Given the description of an element on the screen output the (x, y) to click on. 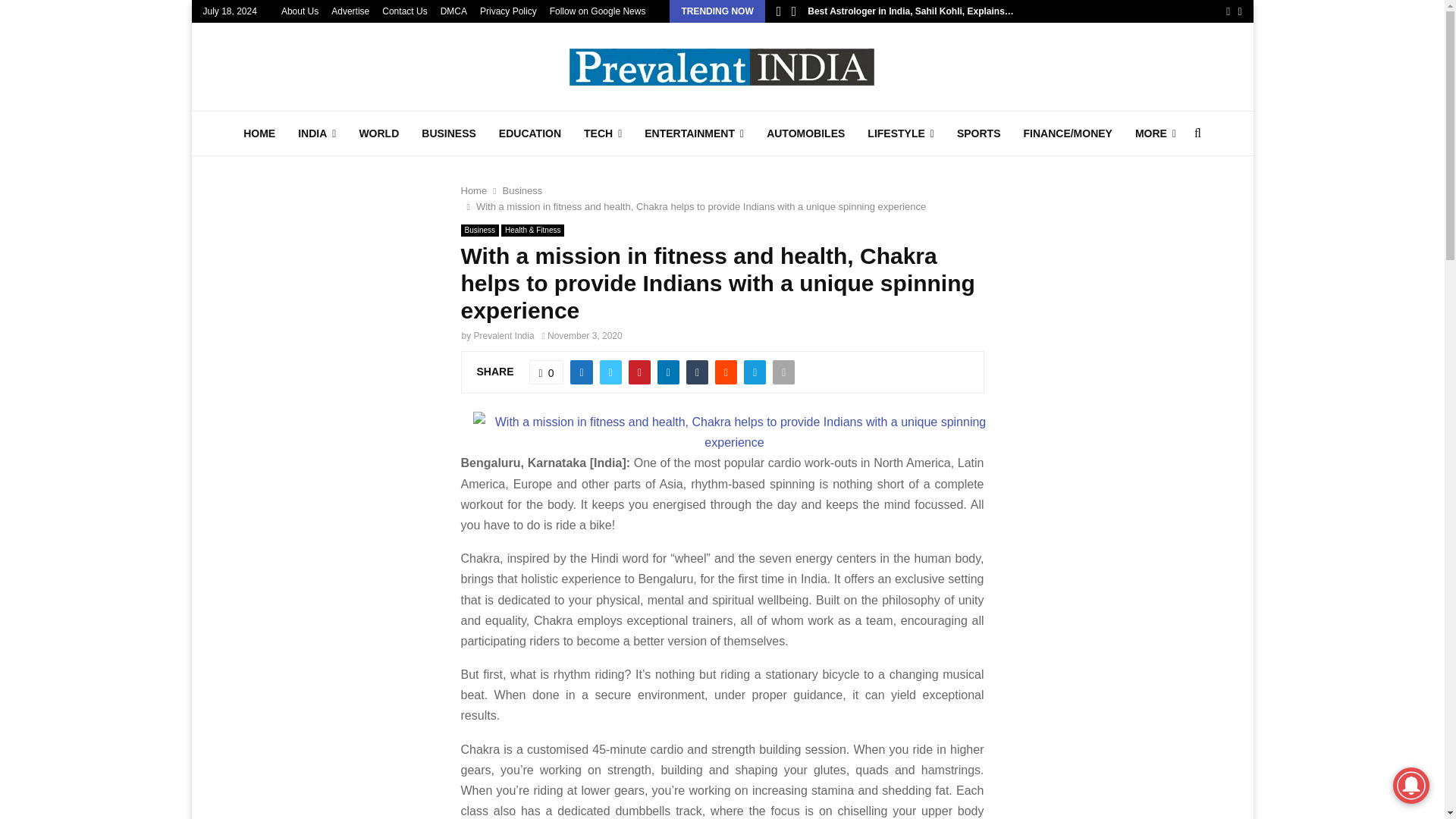
Follow on Google News (598, 11)
Facebook (1227, 11)
Contact Us (403, 11)
BUSINESS (449, 133)
INDIA (317, 133)
HOME (259, 133)
WORLD (378, 133)
DMCA (454, 11)
Like (546, 372)
Twitter (1239, 11)
Privacy Policy (508, 11)
About Us (299, 11)
Advertise (350, 11)
TECH (602, 133)
